Given the description of an element on the screen output the (x, y) to click on. 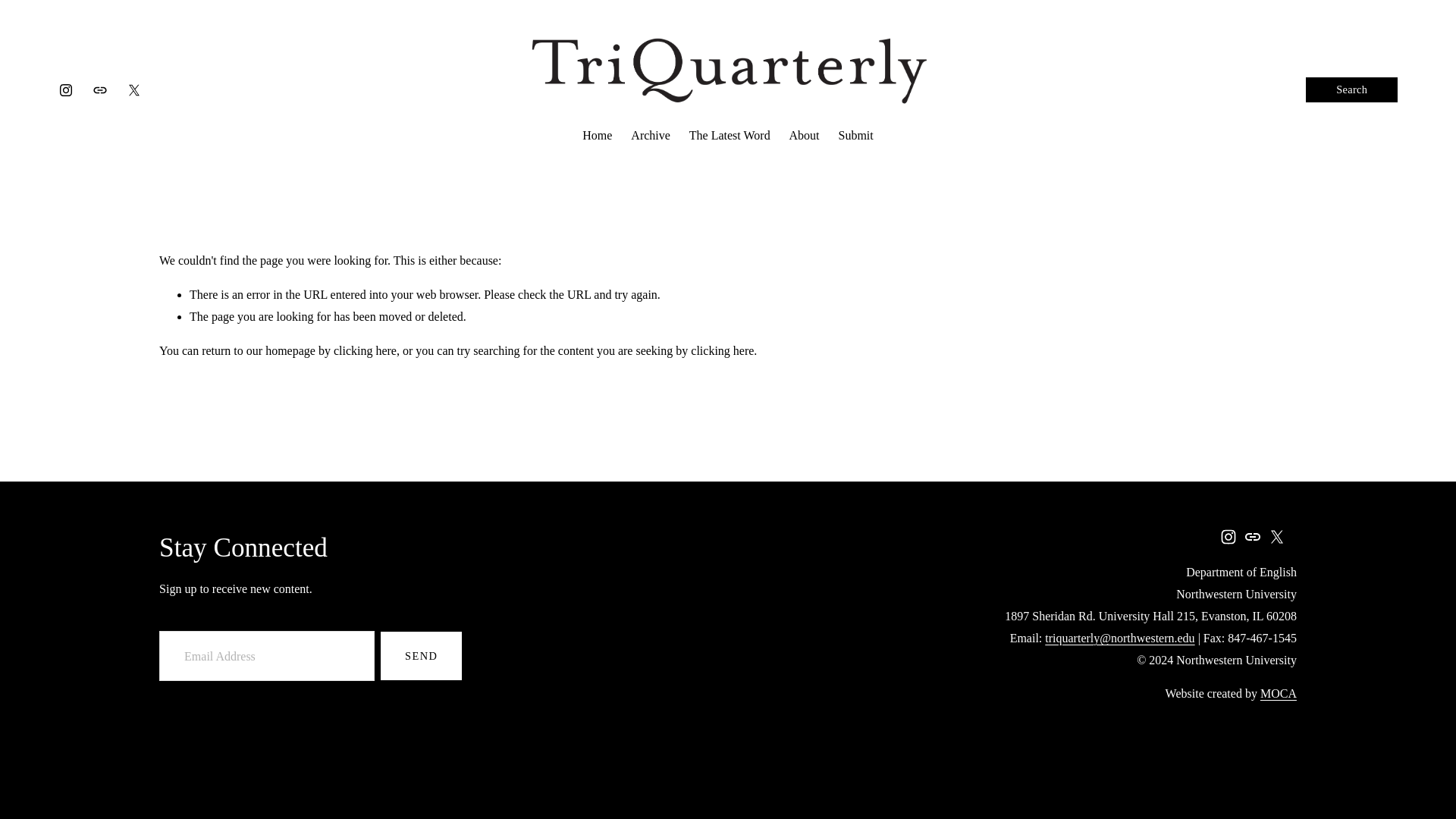
Home (596, 135)
Search (1351, 89)
The Latest Word (729, 135)
clicking here (722, 350)
Archive (649, 135)
MOCA (1278, 694)
Submit (855, 135)
About (804, 135)
clicking here (364, 350)
SEND (420, 655)
